Given the description of an element on the screen output the (x, y) to click on. 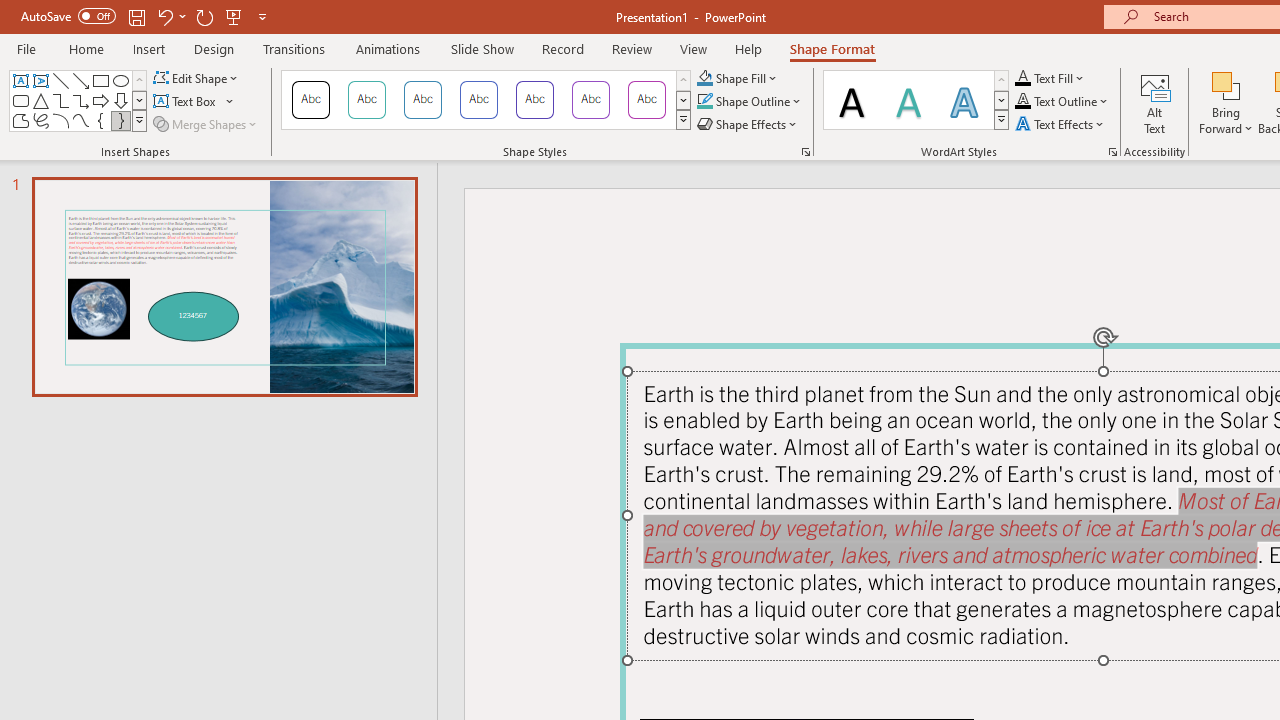
Rectangle (100, 80)
Oval (120, 80)
Right Brace (120, 120)
Fill: Aqua, Accent color 2; Outline: Aqua, Accent color 2 (964, 100)
Text Outline (1062, 101)
Bring Forward (1225, 102)
Edit Shape (196, 78)
Freeform: Scribble (40, 120)
Shape Fill (737, 78)
Shape Outline Teal, Accent 1 (704, 101)
Fill: Black, Text color 1; Shadow (852, 100)
Review (631, 48)
Curve (80, 120)
Help (748, 48)
Colored Outline - Purple, Accent 5 (591, 100)
